Given the description of an element on the screen output the (x, y) to click on. 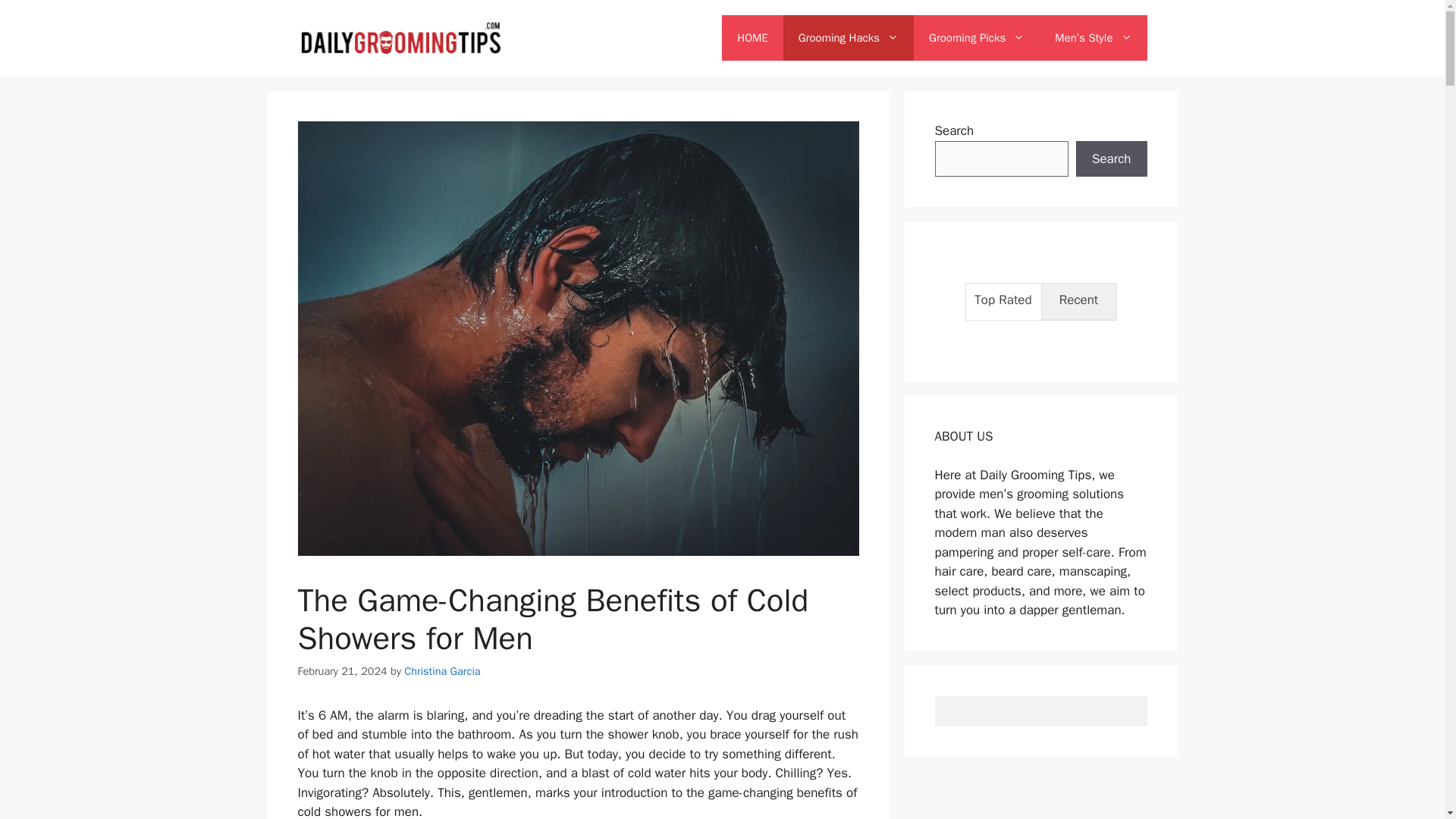
Grooming Picks (976, 37)
Christina Garcia (442, 671)
Grooming Hacks (848, 37)
View all posts by Christina Garcia (442, 671)
HOME (752, 37)
